Given the description of an element on the screen output the (x, y) to click on. 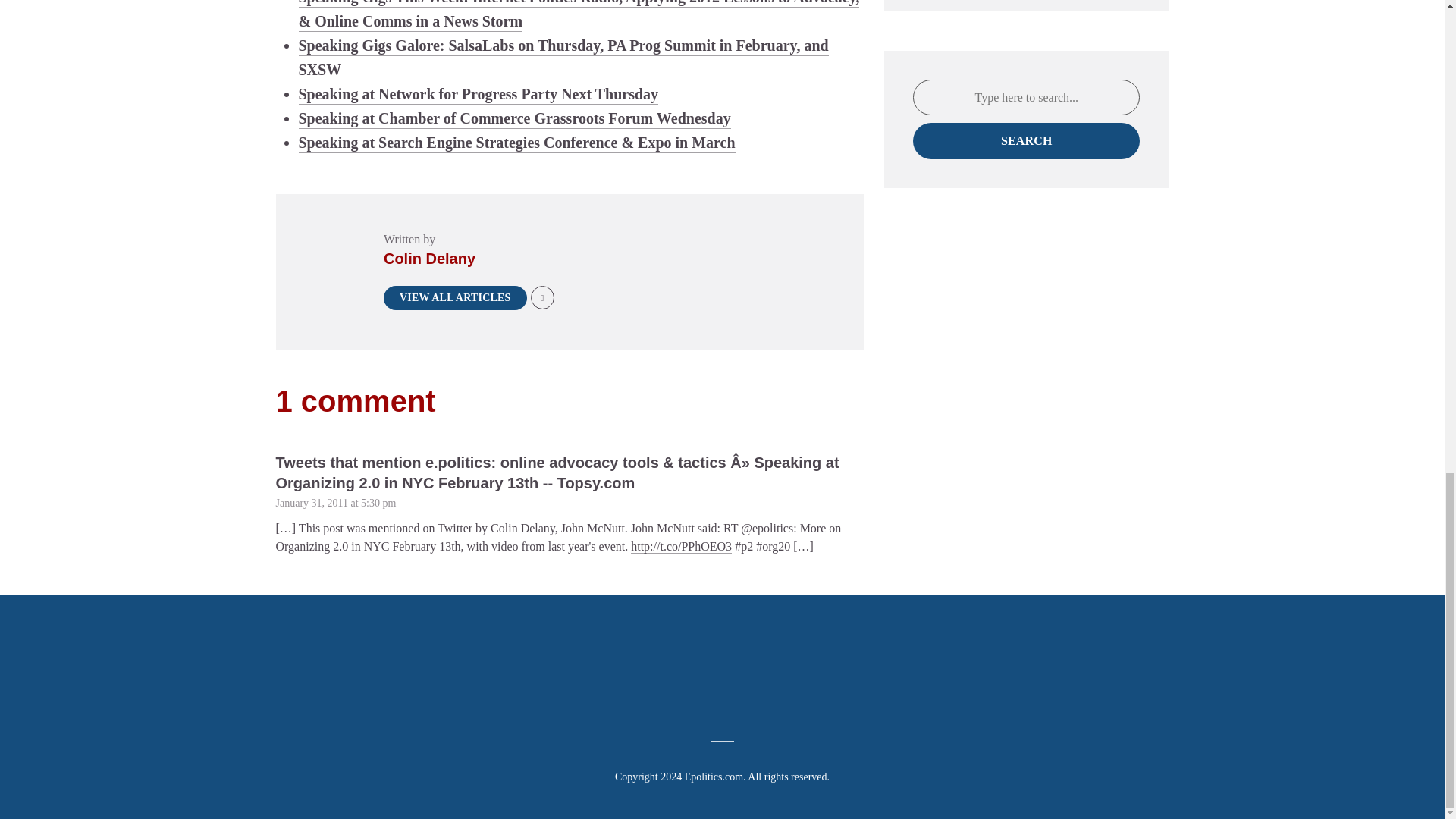
Speaking at Network for Progress Party Next Thursday (478, 94)
Speaking at Network for Progress Party Next Thursday (478, 94)
Speaking at Chamber of Commerce Grassroots Forum Wednesday (514, 117)
SEARCH (1026, 140)
VIEW ALL ARTICLES (455, 297)
January 31, 2011 at 5:30 pm (336, 502)
Speaking at Chamber of Commerce Grassroots Forum Wednesday (514, 117)
